Given the description of an element on the screen output the (x, y) to click on. 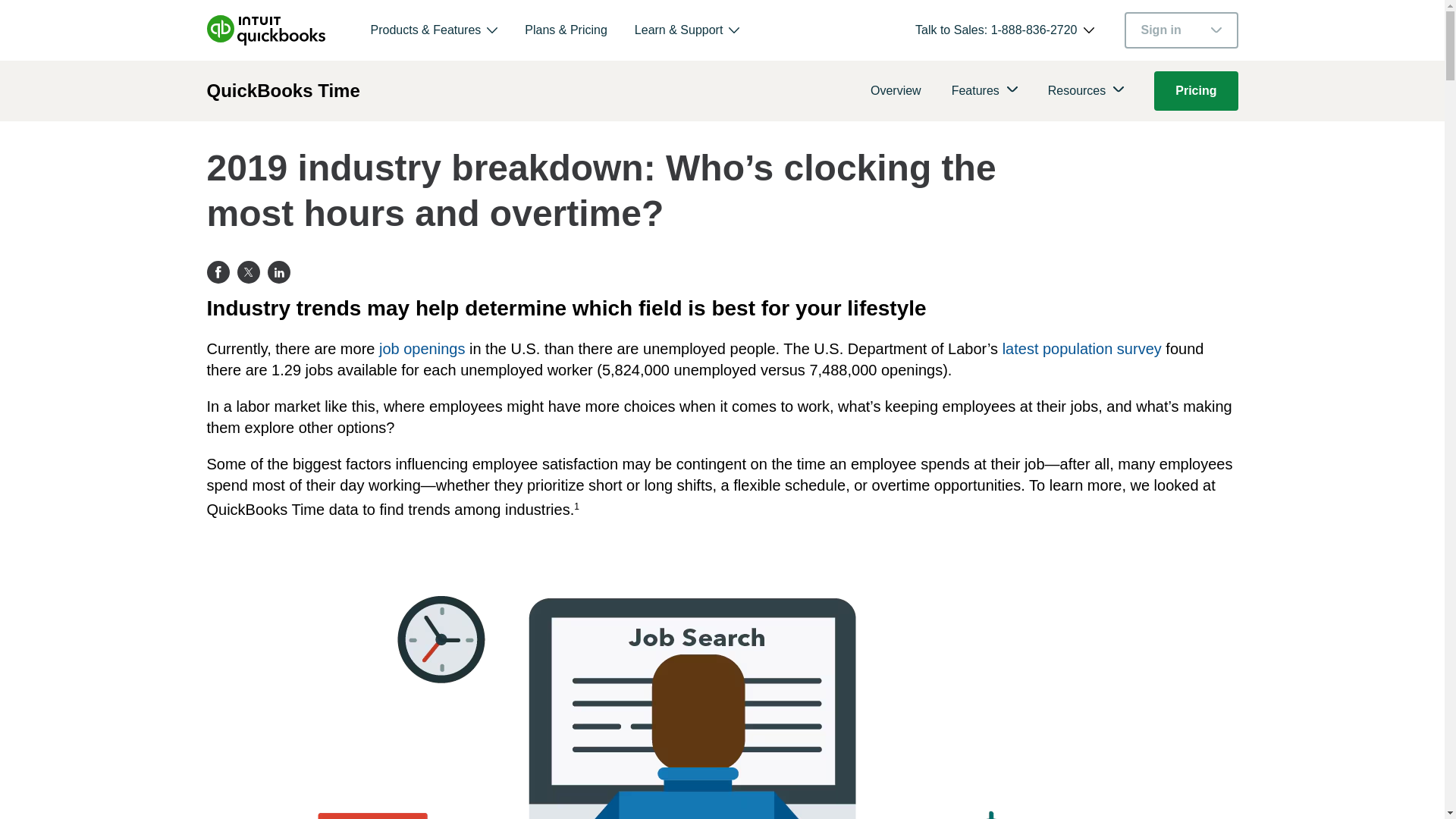
Resources (1076, 90)
Overview (895, 90)
Sign in (1180, 30)
Features (975, 90)
Pricing (1195, 90)
Talk to Sales: 1-888-836-2720 (996, 30)
